Given the description of an element on the screen output the (x, y) to click on. 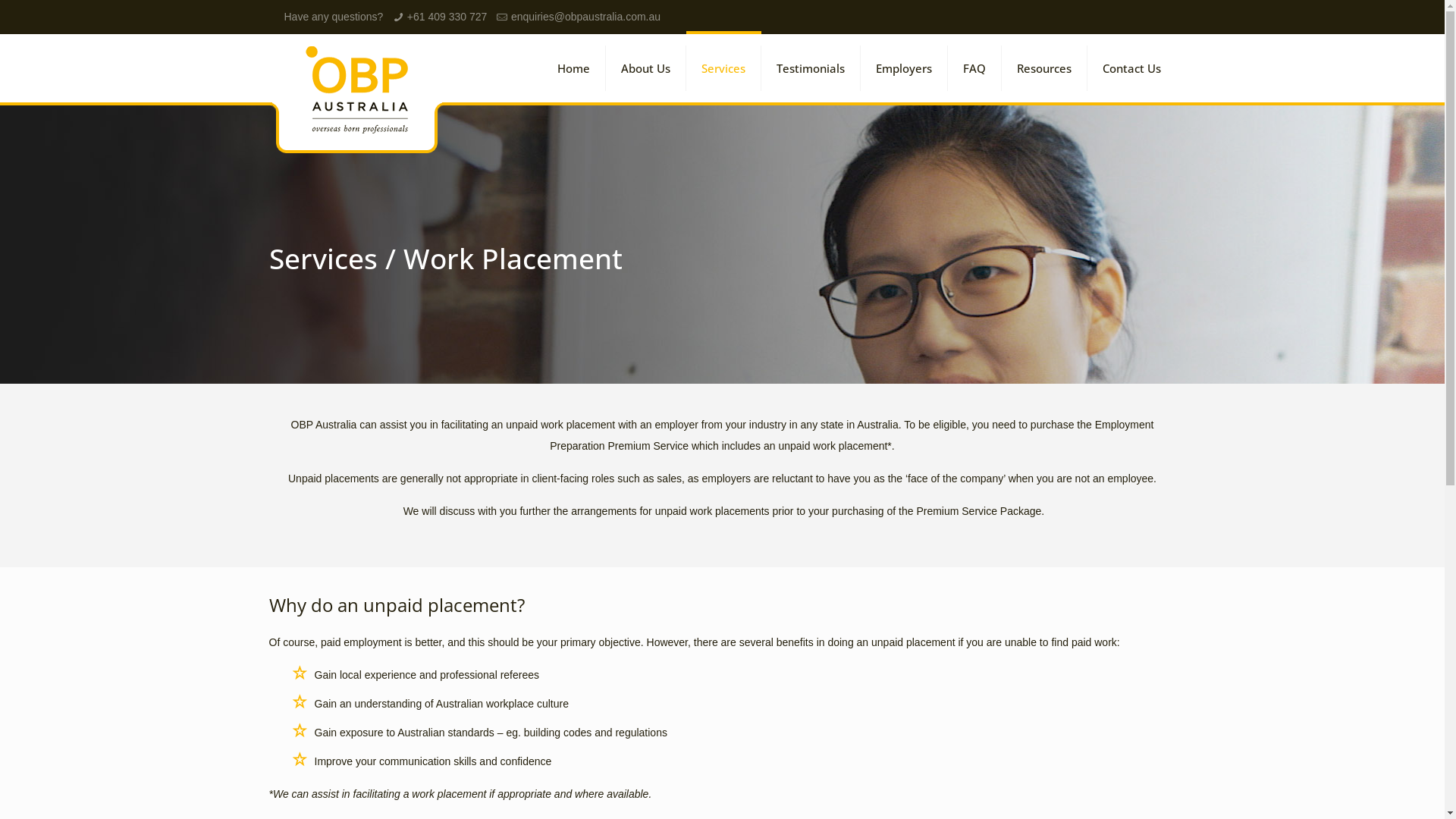
Employers Element type: text (903, 68)
Resources Element type: text (1043, 68)
About Us Element type: text (645, 68)
+61 409 330 727 Element type: text (447, 16)
Services Element type: text (722, 68)
Contact Us Element type: text (1131, 68)
Testimonials Element type: text (810, 68)
Home Element type: text (573, 68)
FAQ Element type: text (974, 68)
enquiries@obpaustralia.com.au Element type: text (585, 16)
